Given the description of an element on the screen output the (x, y) to click on. 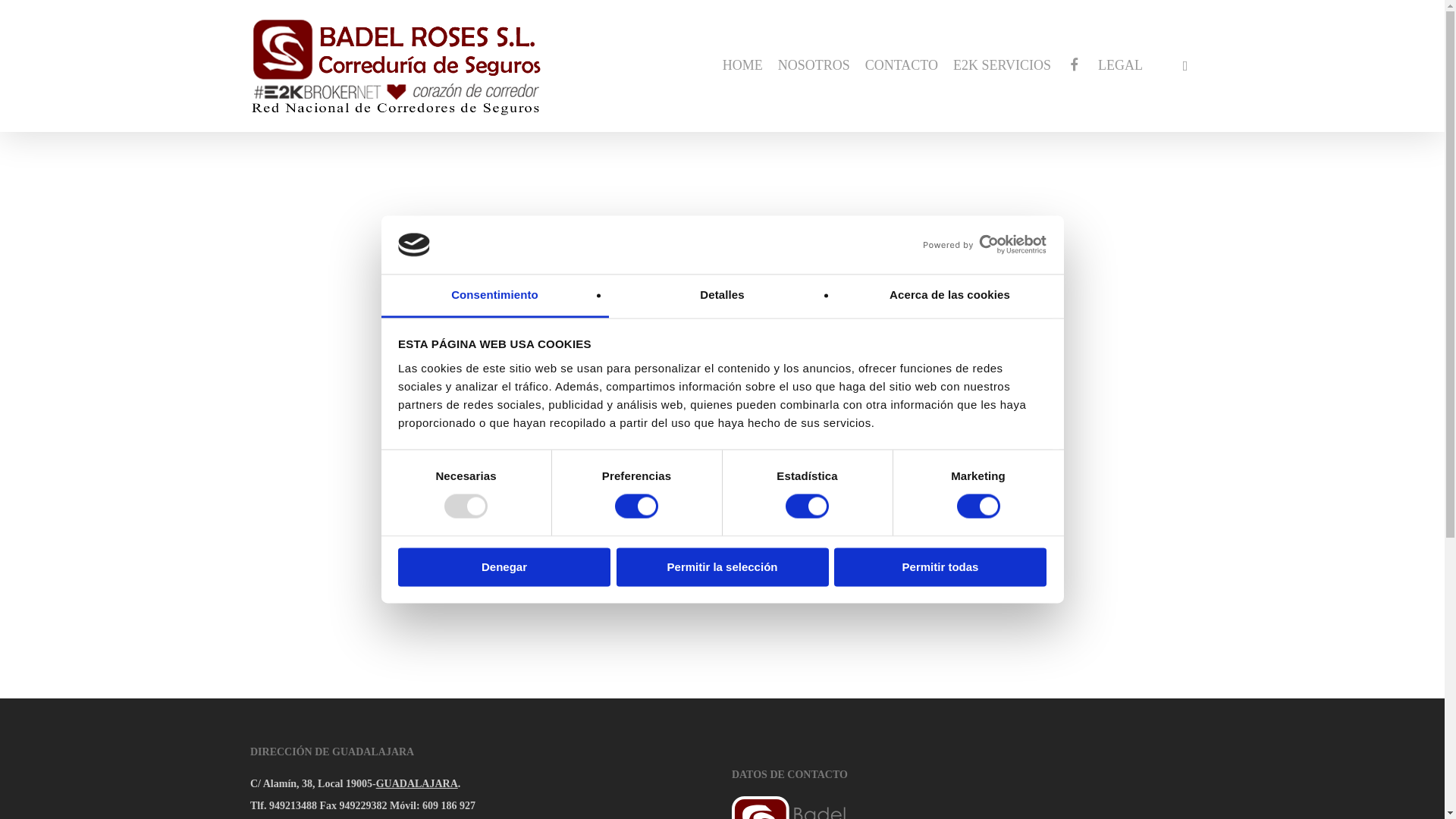
NOSOTROS (813, 65)
LEGAL (1119, 65)
CONTACTO (900, 65)
Acerca de las cookies (948, 295)
Permitir todas (940, 566)
Detalles (721, 295)
E2K SERVICIOS (1002, 65)
HOME (742, 65)
Consentimiento (494, 295)
Denegar (503, 566)
